Given the description of an element on the screen output the (x, y) to click on. 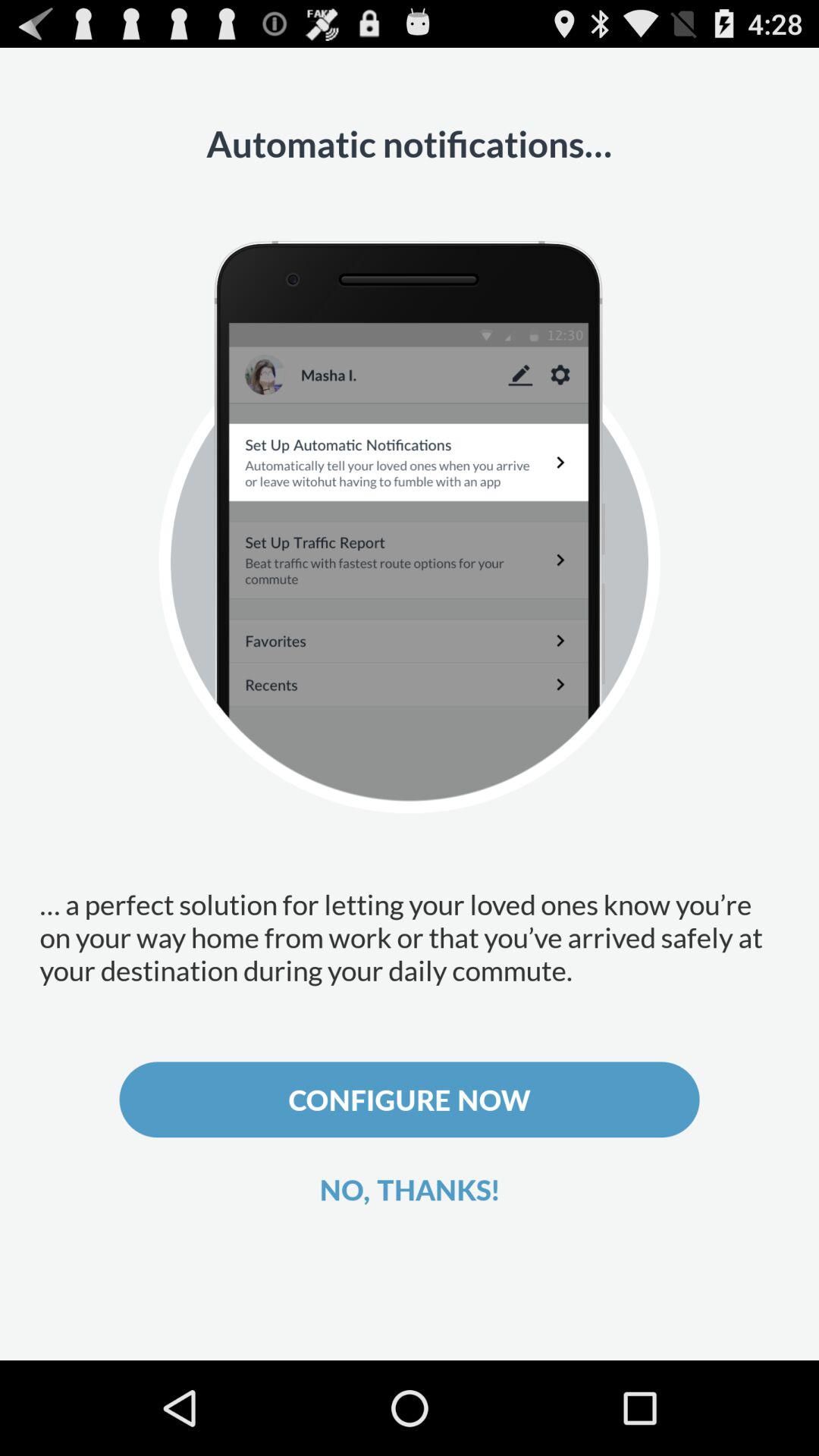
click icon below the a perfect solution (409, 1099)
